Given the description of an element on the screen output the (x, y) to click on. 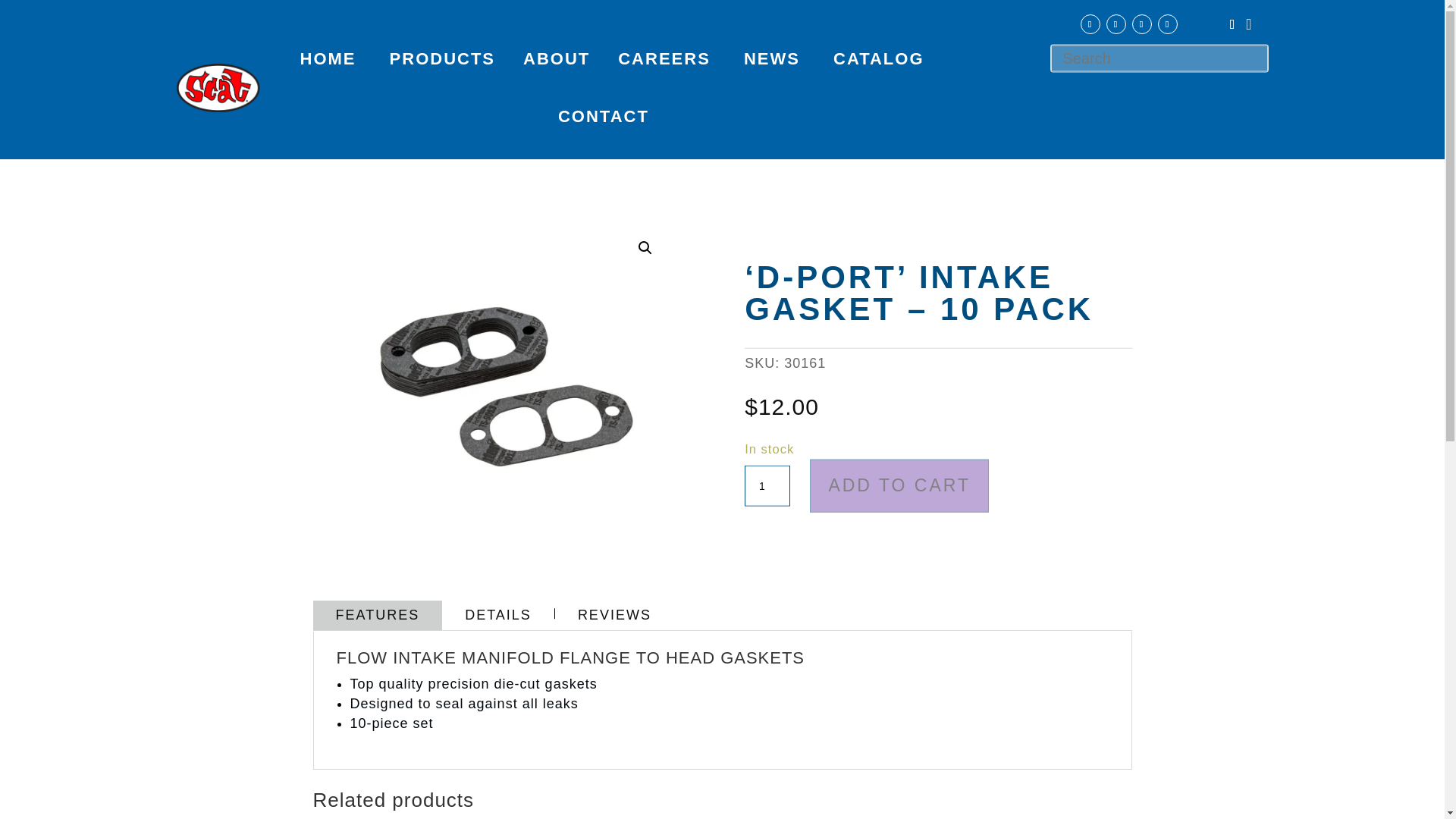
CATALOG (878, 58)
PRODUCTS (442, 58)
ADD TO CART (898, 485)
Follow on Instagram (1115, 24)
CONTACT (603, 116)
ABOUT (555, 58)
NEWS (771, 58)
Follow on Youtube (1141, 24)
DETAILS (498, 614)
My Account (1238, 25)
Follow on Facebook (1089, 24)
Follow on X (1166, 24)
CAREERS (663, 58)
REVIEWS (614, 614)
30161 - D Port Intake Gasket - 10pk-min (505, 386)
